Given the description of an element on the screen output the (x, y) to click on. 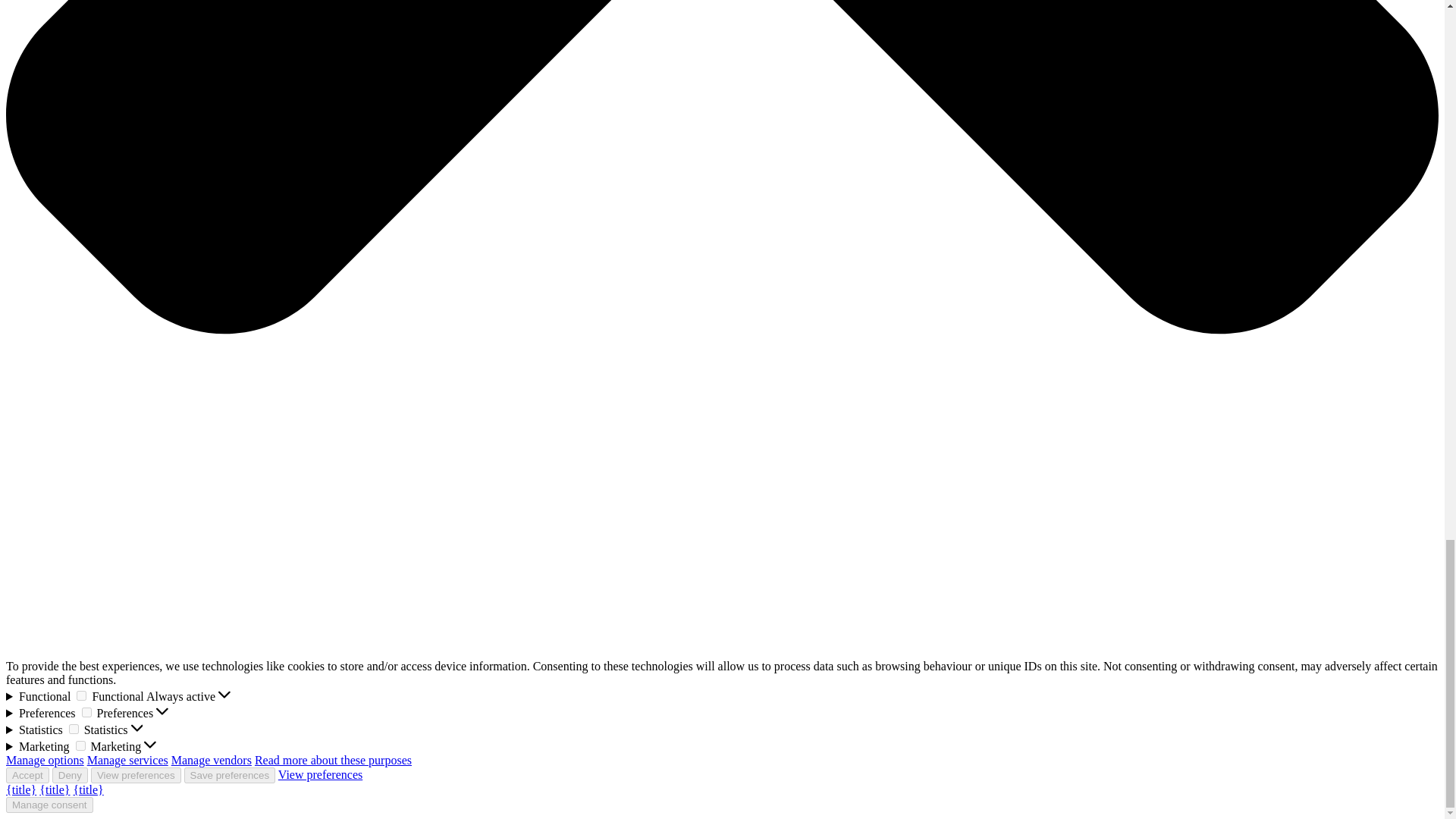
Manage vendors (211, 759)
Save preferences (229, 774)
Manage services (127, 759)
Manage consent (49, 804)
1 (86, 712)
View preferences (135, 774)
Deny (69, 774)
1 (80, 746)
Manage options (44, 759)
Read more about these purposes (333, 759)
